Given the description of an element on the screen output the (x, y) to click on. 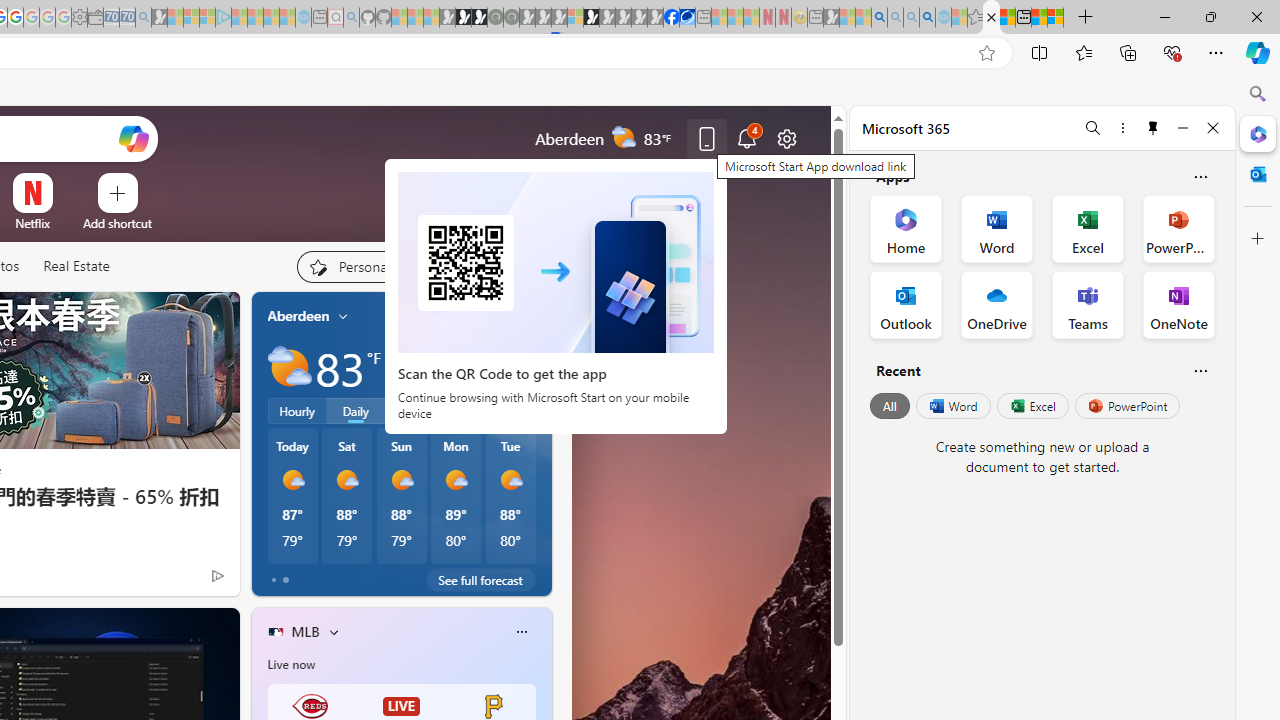
Bing AI - Search (879, 17)
Daily (356, 411)
Page settings (786, 138)
Outlook Office App (906, 304)
Aberdeen, Hong Kong SAR weather forecast | Microsoft Weather (1007, 17)
PowerPoint (1127, 406)
